Given the description of an element on the screen output the (x, y) to click on. 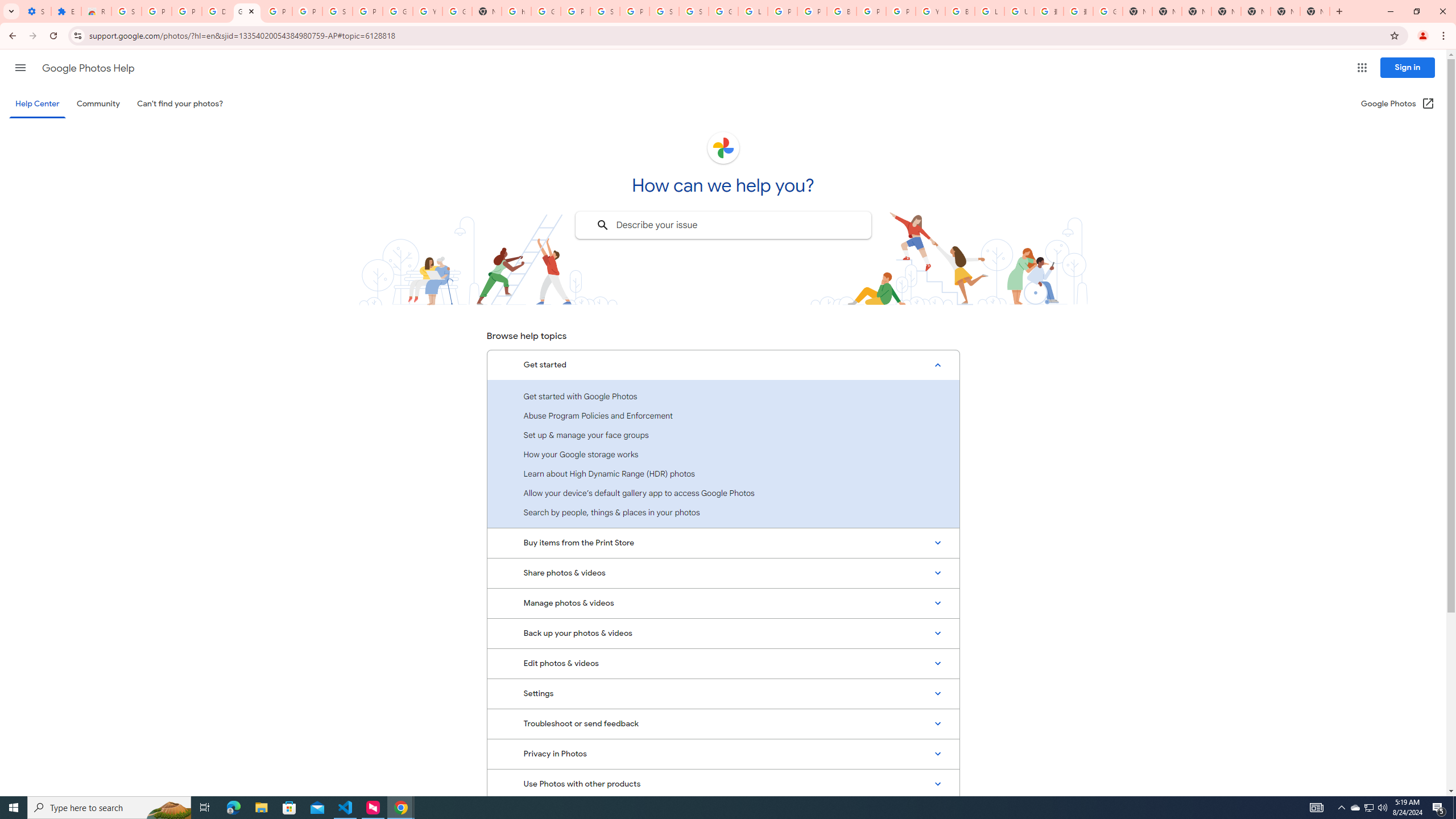
Sign in - Google Accounts (693, 11)
Manage photos & videos (722, 603)
Delete photos & videos - Computer - Google Photos Help (216, 11)
Reviews: Helix Fruit Jump Arcade Game (95, 11)
Use Photos with other products (722, 784)
New Tab (1226, 11)
Learn about High Dynamic Range (HDR) photos (722, 473)
Google Photos Help (247, 11)
Privacy in Photos (722, 754)
